Given the description of an element on the screen output the (x, y) to click on. 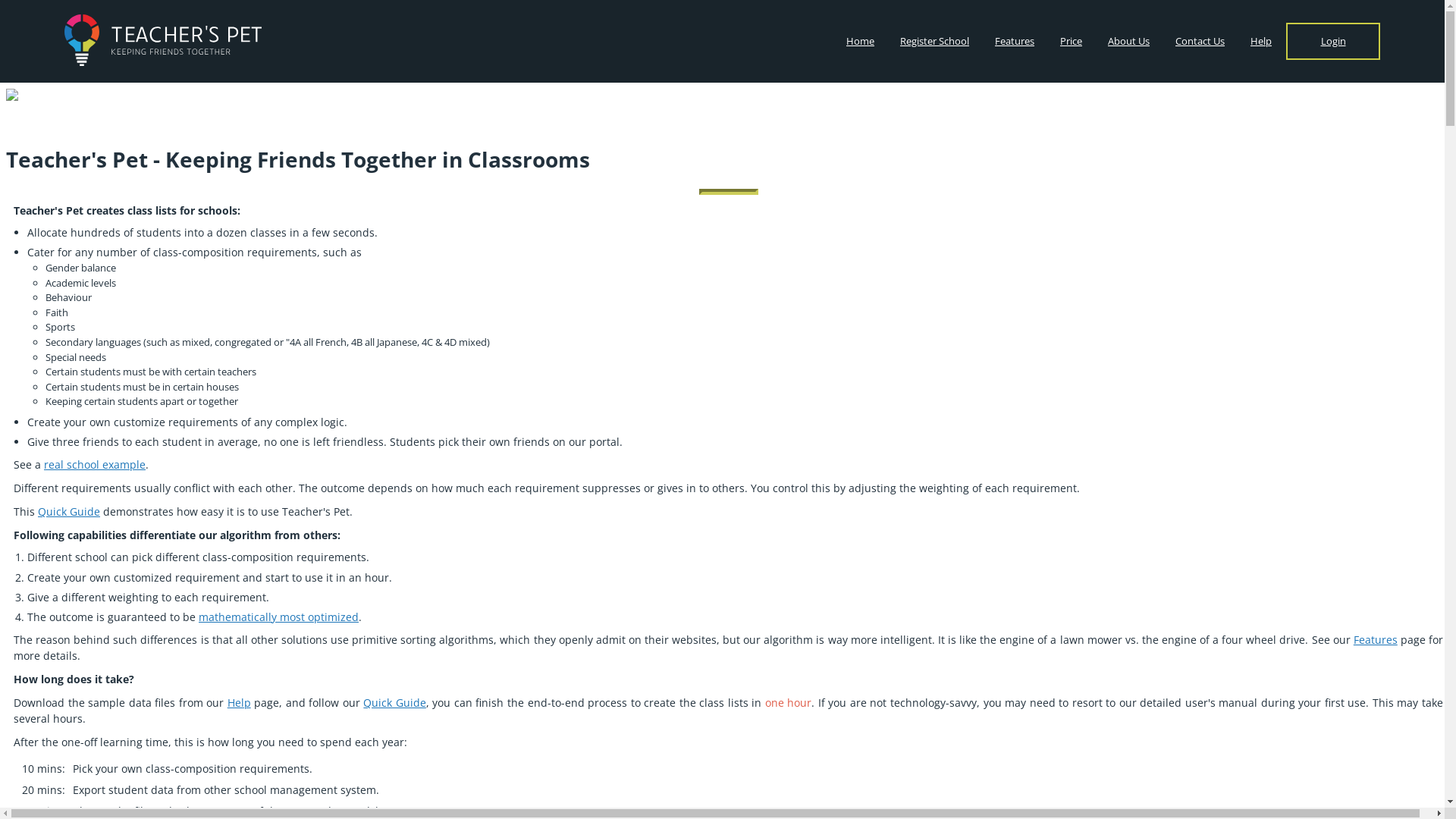
Features Element type: text (1014, 40)
real school example Element type: text (94, 464)
mathematically most optimized Element type: text (278, 616)
Quick Guide Element type: text (394, 702)
Home Element type: text (859, 40)
Features Element type: text (1375, 639)
Price Element type: text (1070, 40)
Help Element type: text (239, 702)
Help Element type: text (1261, 40)
Quick Guide Element type: text (68, 511)
Login Element type: text (1333, 40)
Register School Element type: text (934, 40)
About Us Element type: text (1128, 40)
Contact Us Element type: text (1200, 40)
